Given the description of an element on the screen output the (x, y) to click on. 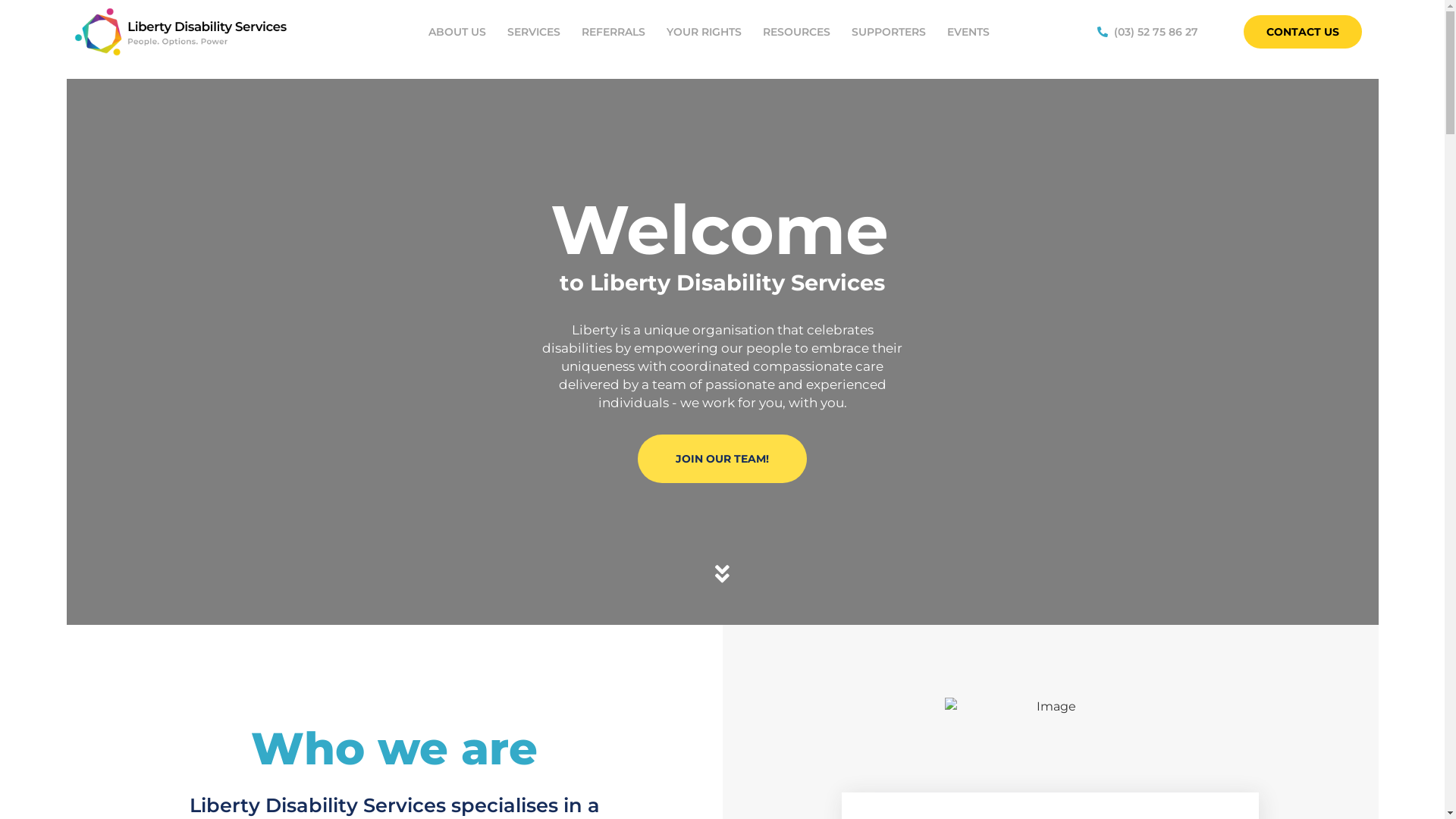
RESOURCES Element type: text (796, 31)
CONTACT US Element type: text (1302, 31)
SUPPORTERS Element type: text (888, 31)
REFERRALS Element type: text (613, 31)
EVENTS Element type: text (968, 31)
ABOUT US Element type: text (457, 31)
JOIN OUR TEAM! Element type: text (721, 458)
(03) 52 75 86 27 Element type: text (1147, 31)
YOUR RIGHTS Element type: text (703, 31)
SERVICES Element type: text (533, 31)
